Given the description of an element on the screen output the (x, y) to click on. 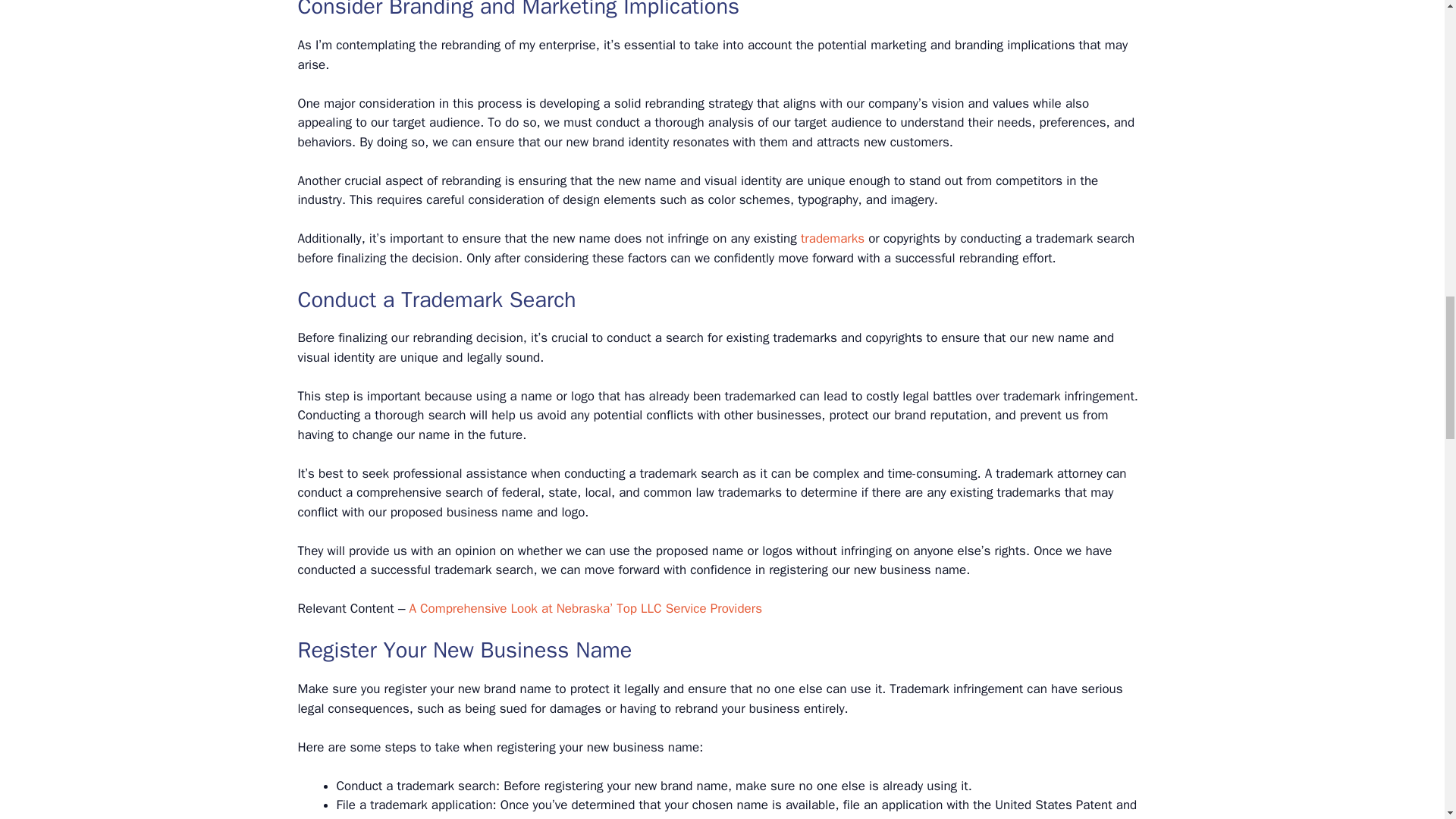
The Ultimate List of Top Trademark Services in 2023 (832, 238)
trademarks (832, 238)
